Given the description of an element on the screen output the (x, y) to click on. 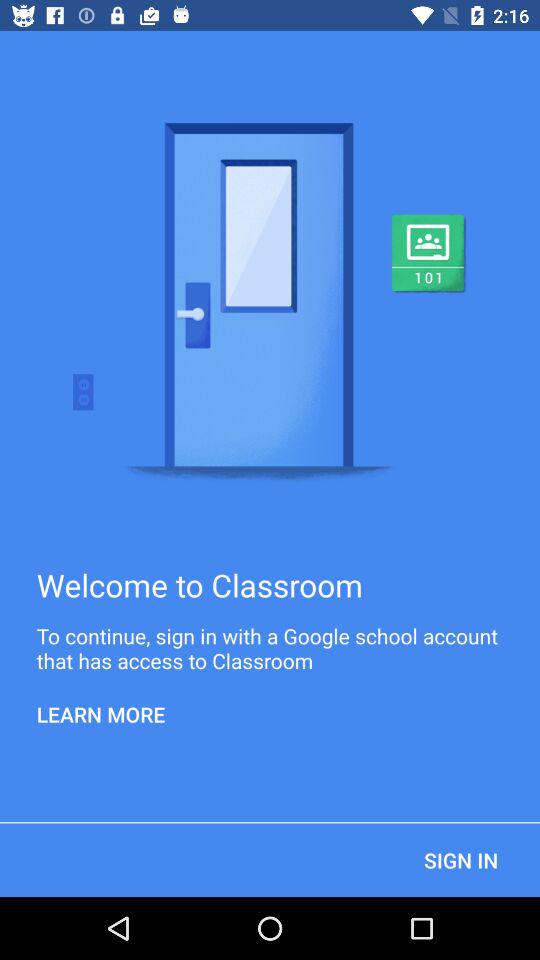
flip until the learn more item (101, 713)
